Given the description of an element on the screen output the (x, y) to click on. 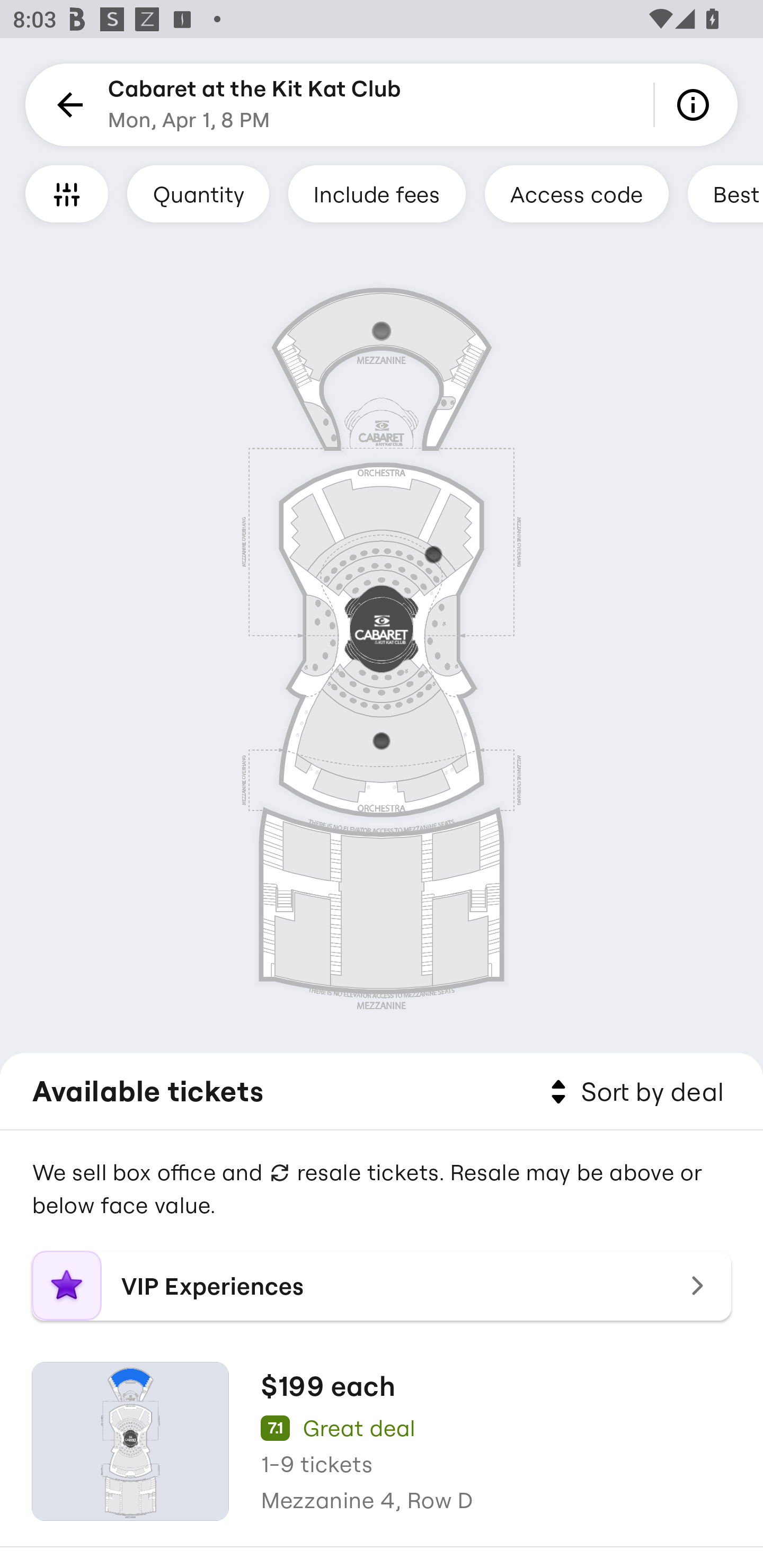
Back (66, 104)
Cabaret at the Kit Kat Club Mon, Apr 1, 8 PM (254, 104)
Info (695, 104)
Filters and Accessible Seating (66, 193)
Quantity (198, 193)
Include fees (376, 193)
Access code (576, 193)
Sort by deal (633, 1091)
VIP Experiences (381, 1285)
